Given the description of an element on the screen output the (x, y) to click on. 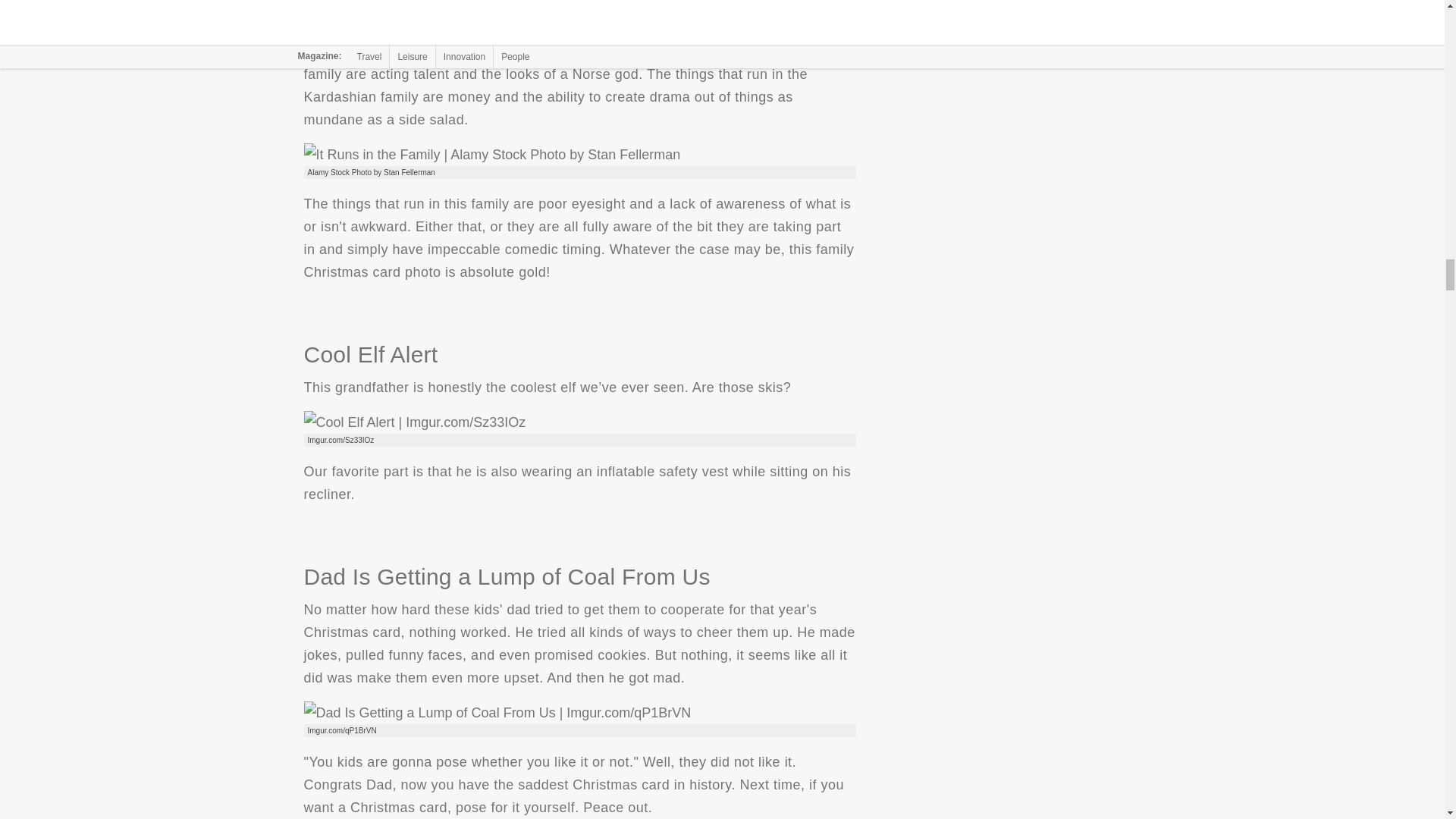
It Runs in the Family (490, 154)
Cool Elf Alert (413, 422)
Dad Is Getting a Lump of Coal From Us (496, 712)
